Given the description of an element on the screen output the (x, y) to click on. 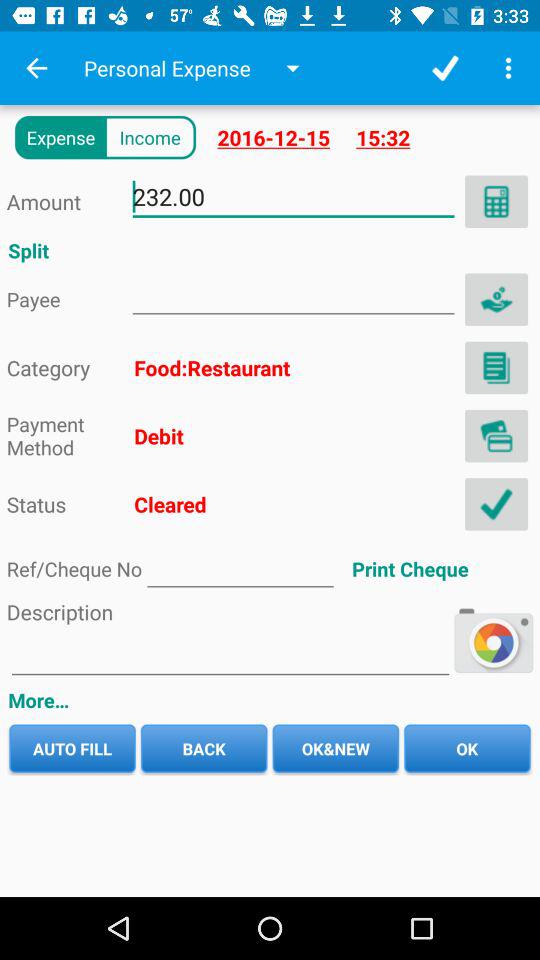
text box to enter (230, 655)
